Given the description of an element on the screen output the (x, y) to click on. 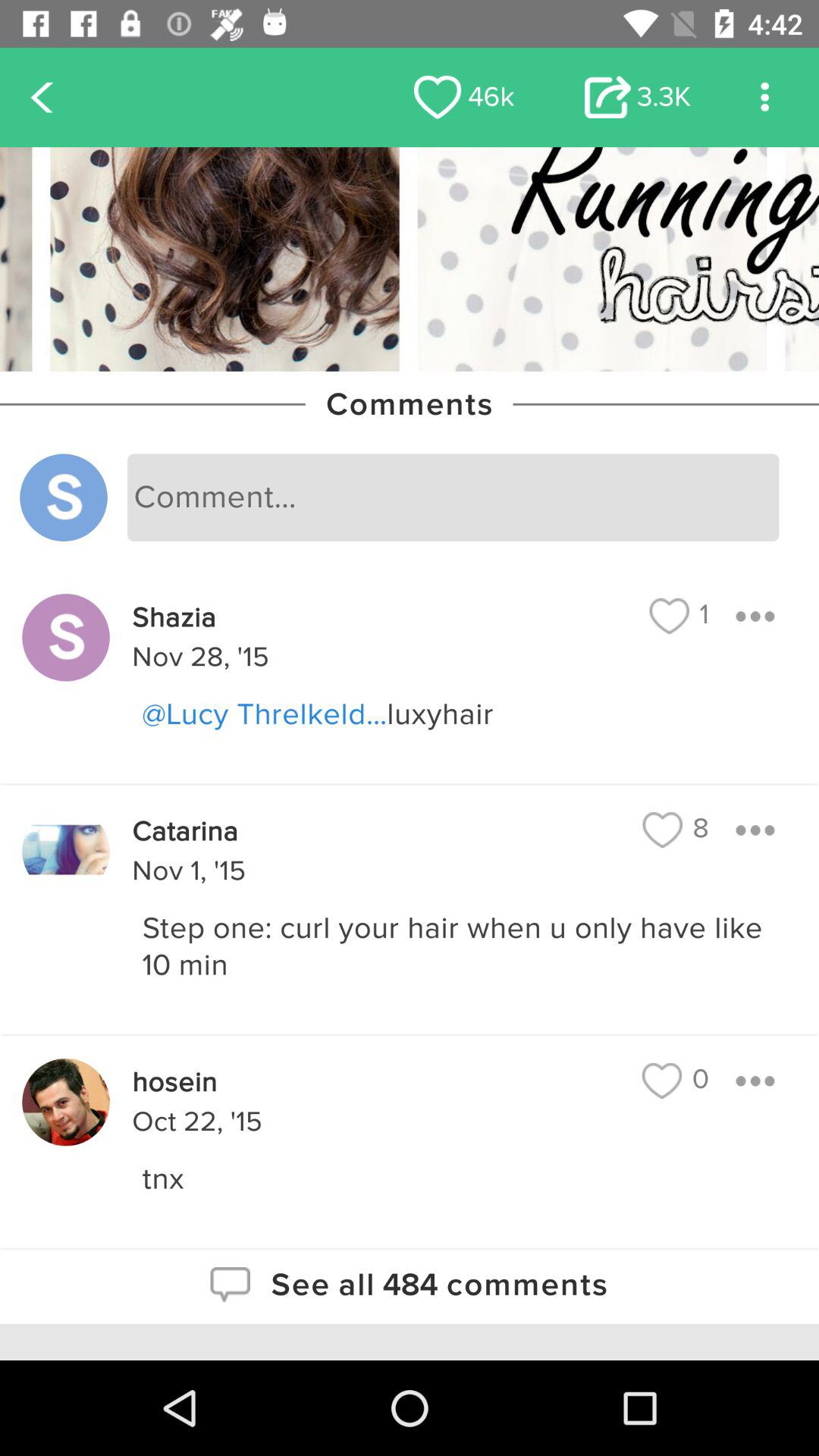
input your comment (453, 497)
